Given the description of an element on the screen output the (x, y) to click on. 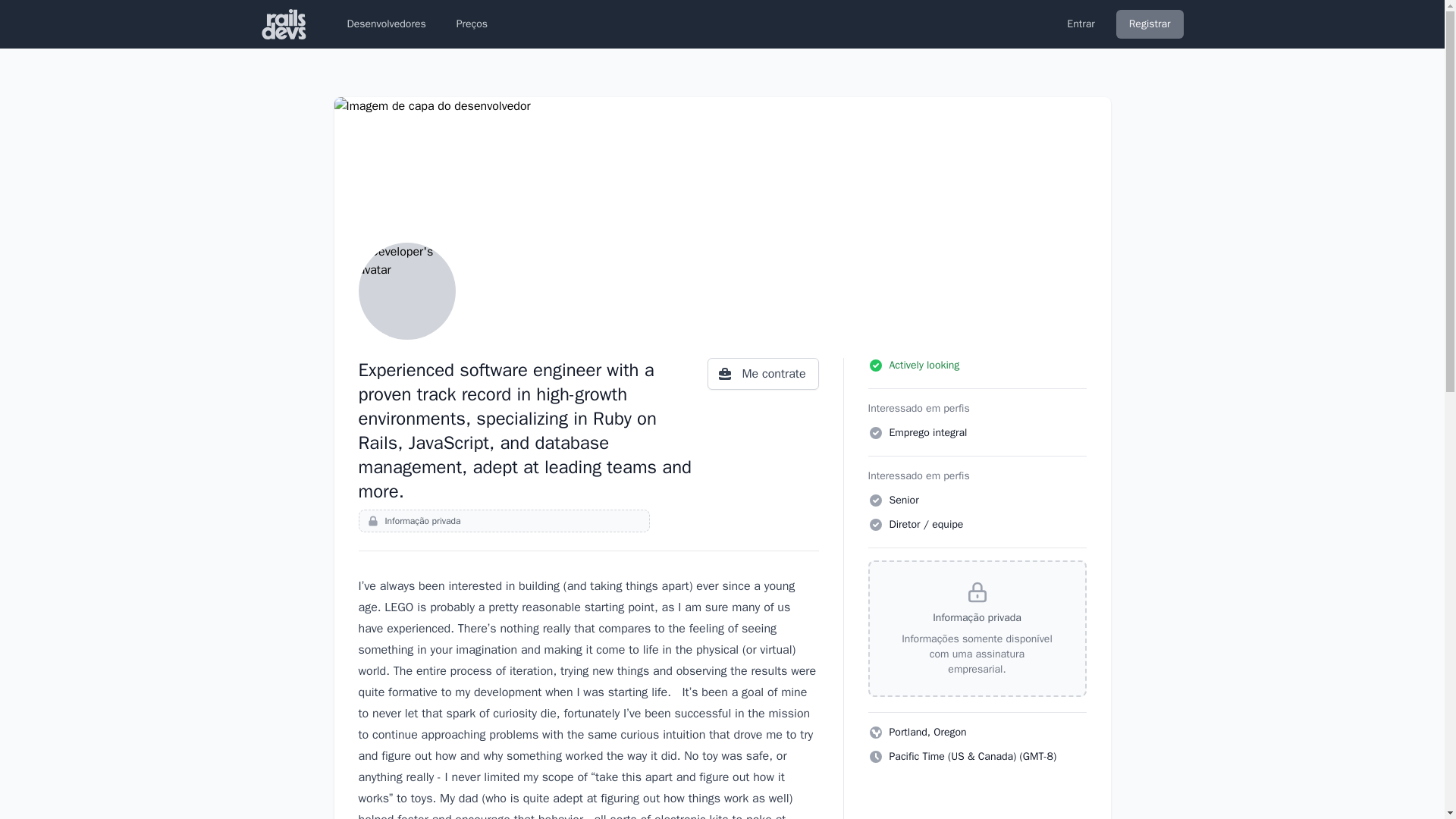
Clock (874, 756)
Check Circle (874, 365)
Check Circle (874, 432)
RailsDevs (283, 24)
Desenvolvedores (385, 23)
Entrar (1080, 23)
Me contrate (762, 373)
Registrar (1149, 23)
Check Circle (874, 500)
Check Circle (874, 524)
